Given the description of an element on the screen output the (x, y) to click on. 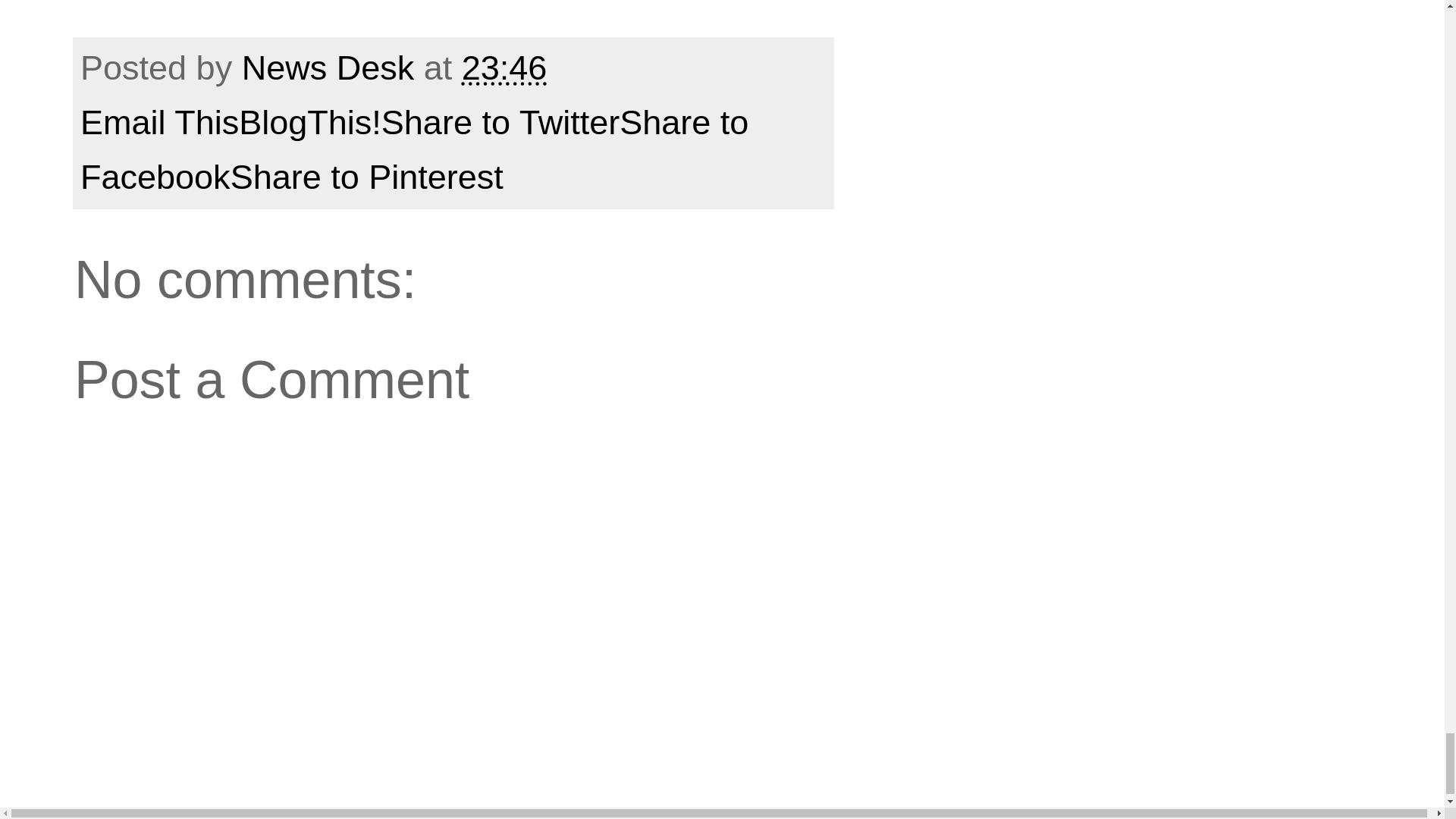
Page 2 (453, 11)
BlogThis! (309, 122)
BlogThis! (309, 122)
Share to Facebook (414, 149)
permanent link (504, 67)
author profile (332, 67)
Email This (159, 122)
Share to Twitter (500, 122)
News Desk (332, 67)
Page 2 (453, 11)
Share to Pinterest (366, 177)
Share to Facebook (414, 149)
Email This (159, 122)
Share to Twitter (500, 122)
23:46 (504, 67)
